Given the description of an element on the screen output the (x, y) to click on. 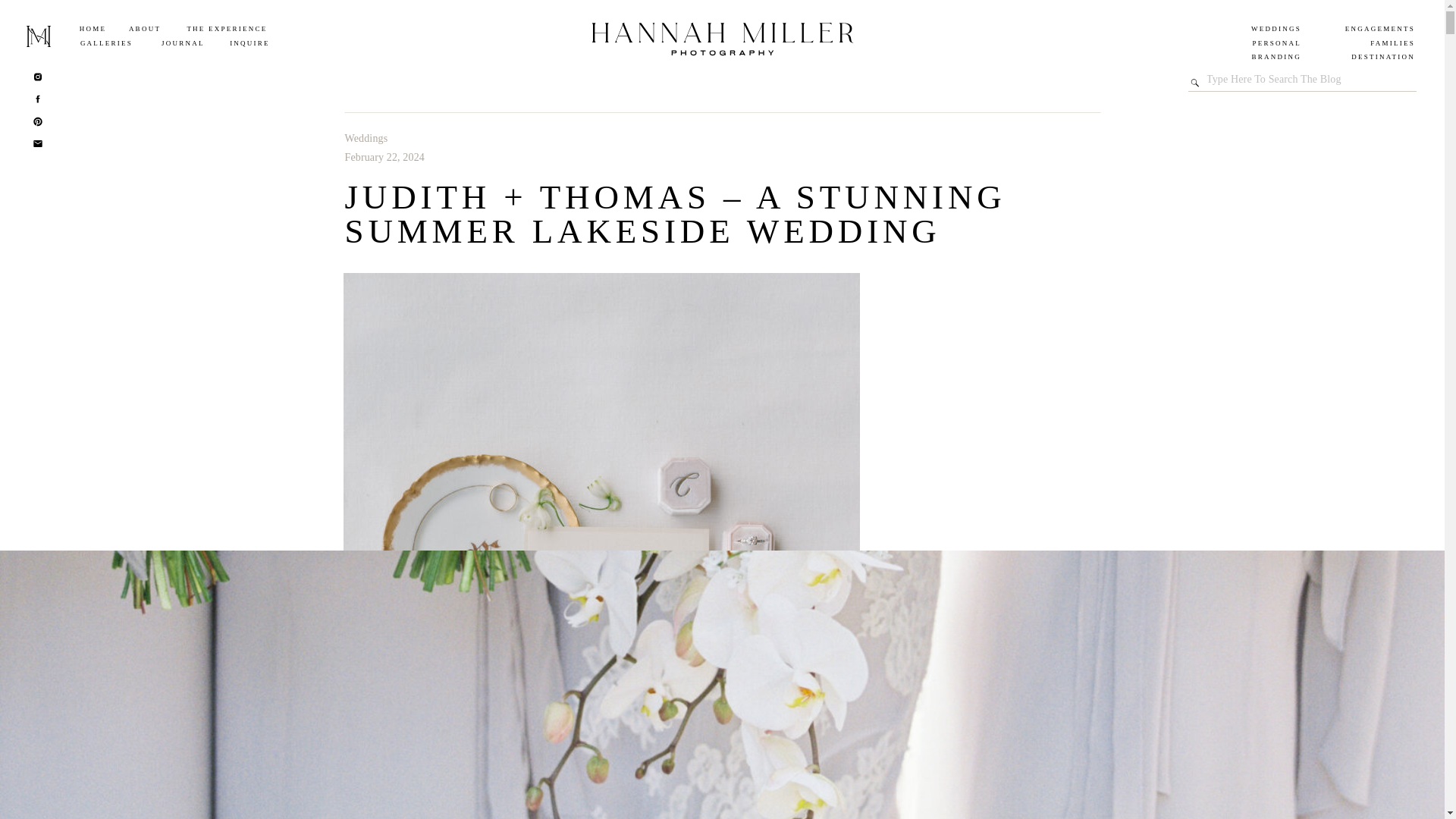
THE EXPERIENCE (226, 29)
FAMILIES (1349, 43)
HOME (93, 29)
ABOUT (144, 29)
Weddings (365, 138)
DESTINATION (1367, 57)
WEDDINGS (1244, 29)
PERSONAL (1235, 43)
GALLERIES (105, 43)
INQUIRE (249, 43)
BRANDING (1254, 57)
ENGAGEMENTS (1358, 29)
JOURNAL (182, 43)
